Given the description of an element on the screen output the (x, y) to click on. 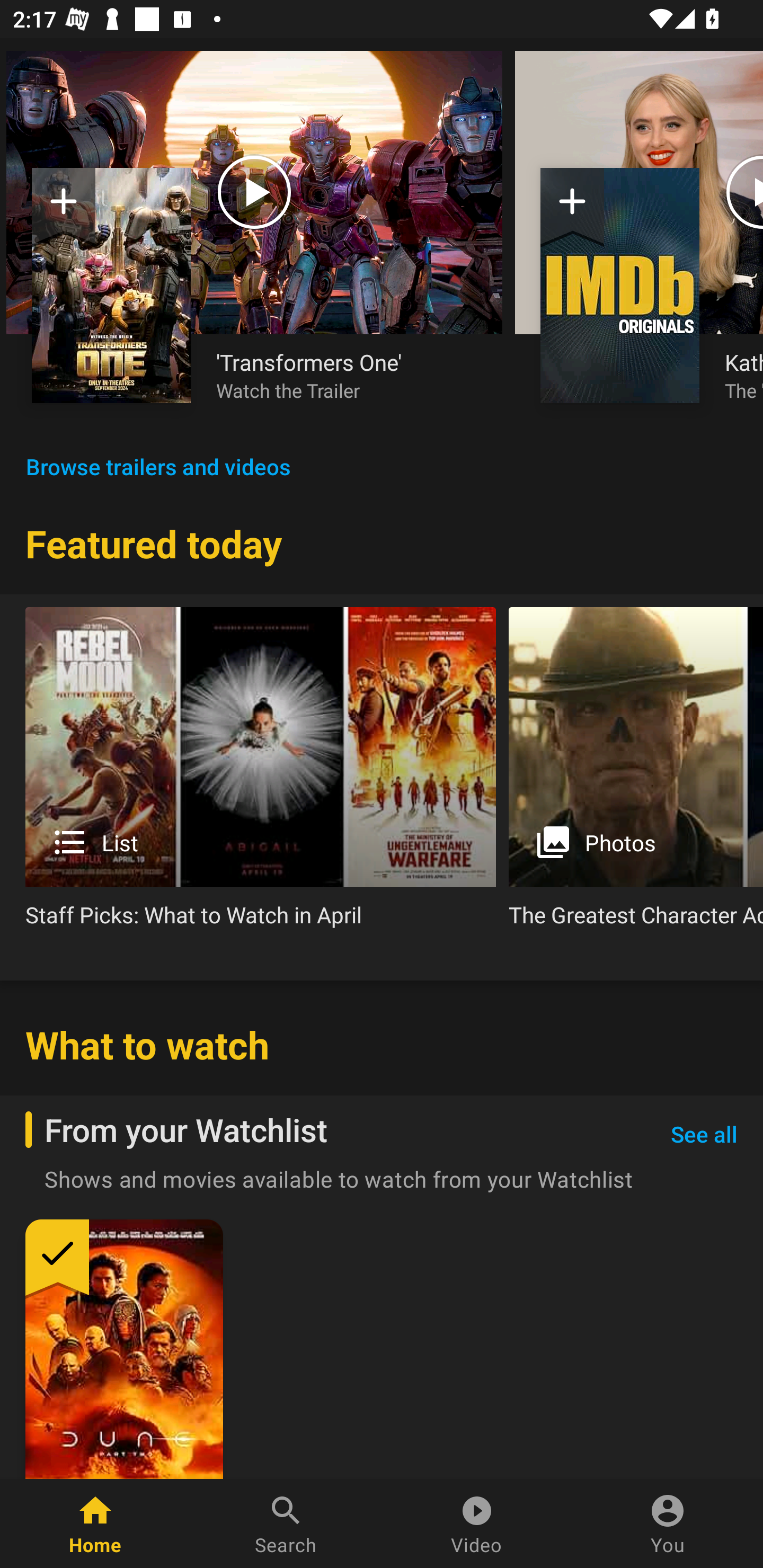
Not in watchlist (111, 284)
Not in watchlist (63, 207)
Not in watchlist (619, 284)
Not in watchlist (572, 207)
'Transformers One' Watch the Trailer (345, 374)
List Staff Picks: What to Watch in April (260, 774)
Photos The Greatest Character Actors of All Time (635, 774)
See all See all From your Watchlist (703, 1134)
Search (285, 1523)
Video (476, 1523)
You (667, 1523)
